Given the description of an element on the screen output the (x, y) to click on. 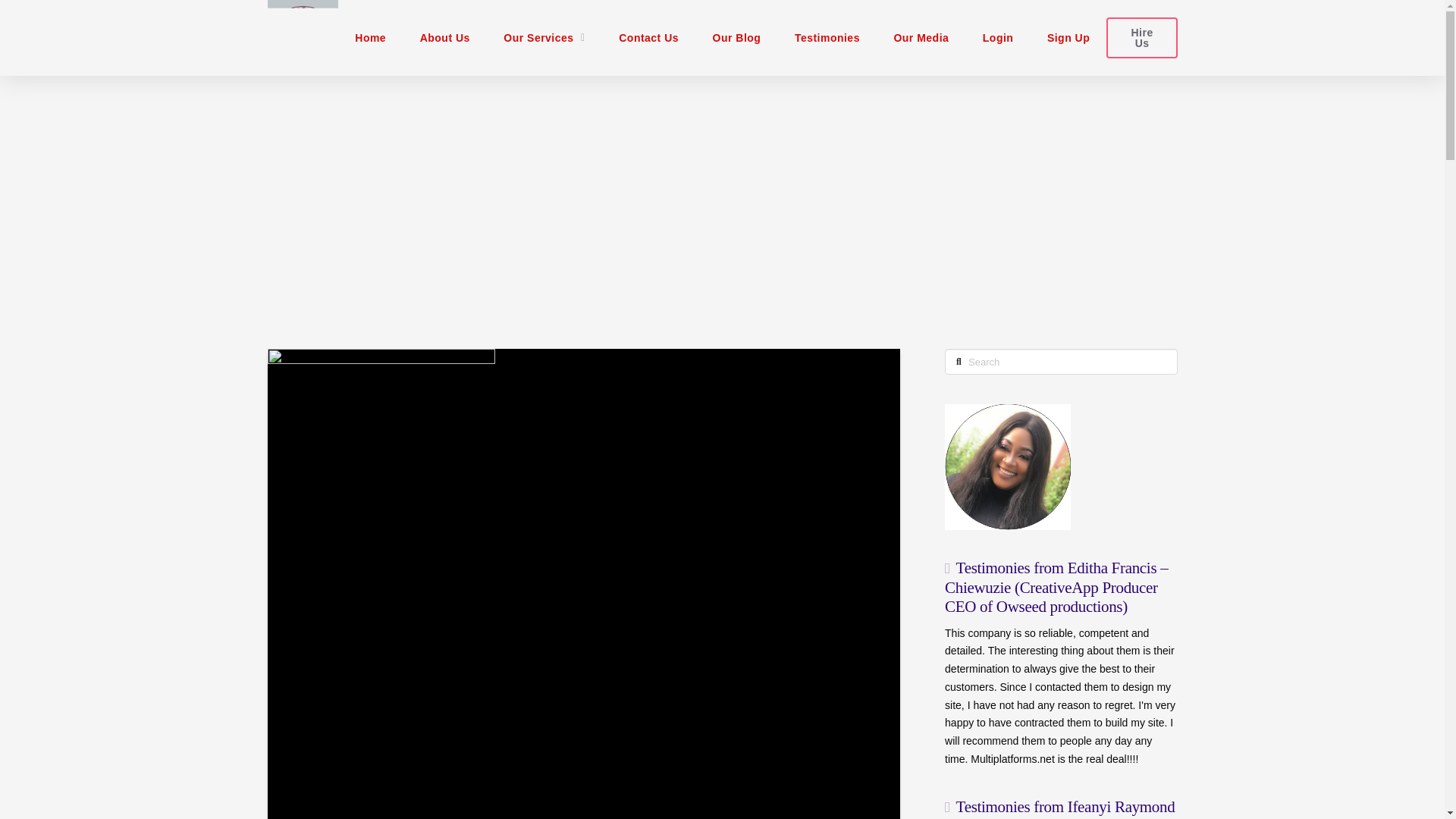
Our Media (920, 38)
Testimonies (826, 38)
Hire Us (1141, 37)
About Us (444, 38)
Our Blog (736, 38)
Contact Us (648, 38)
Our Services (544, 38)
Sign Up (1067, 38)
